Given the description of an element on the screen output the (x, y) to click on. 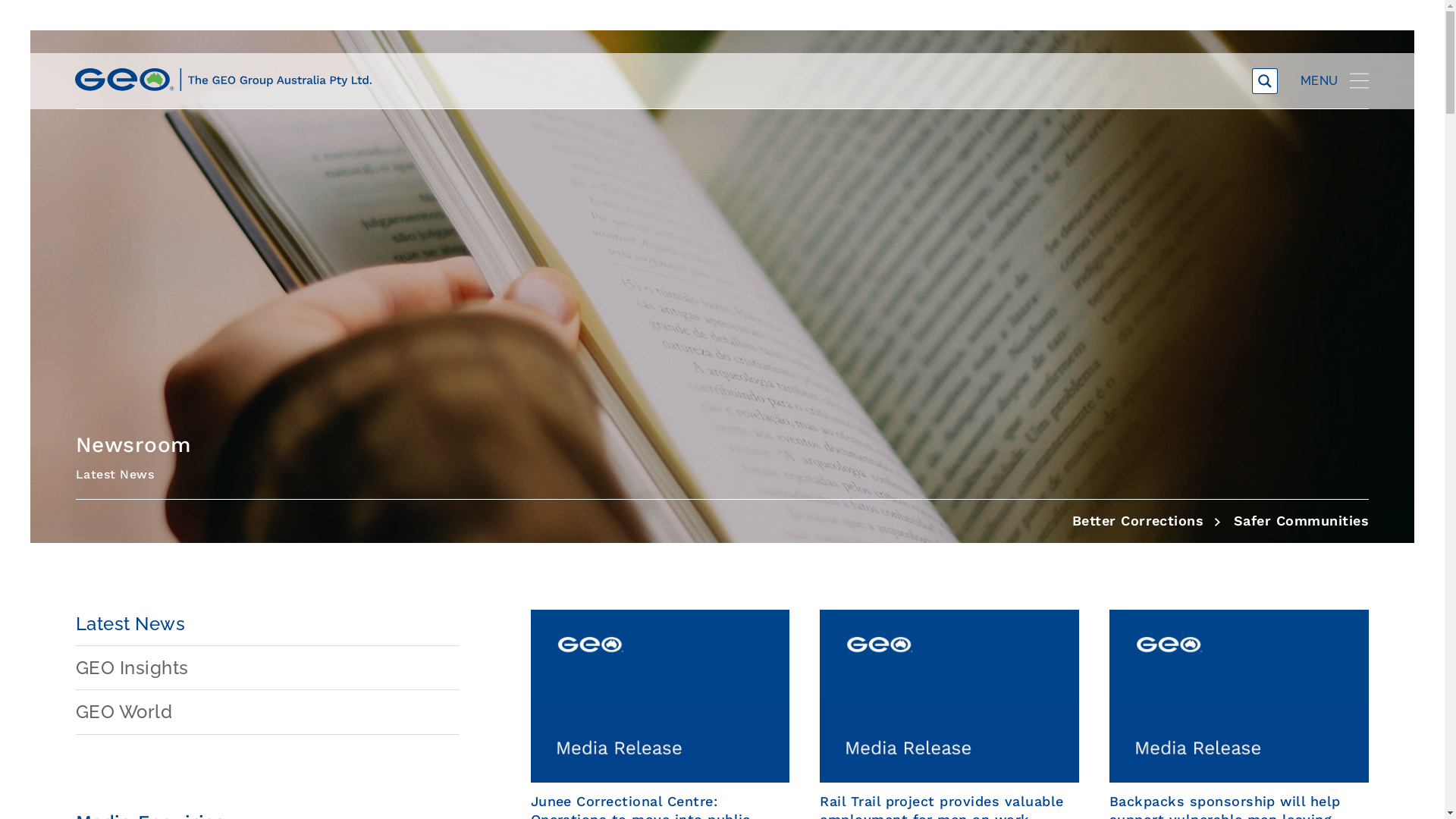
SEARCH Element type: text (1291, 81)
MENU
Open Menu Element type: text (1334, 88)
GEO Insights Element type: text (267, 668)
Latest News Element type: text (267, 624)
GEO World Element type: text (267, 712)
